Given the description of an element on the screen output the (x, y) to click on. 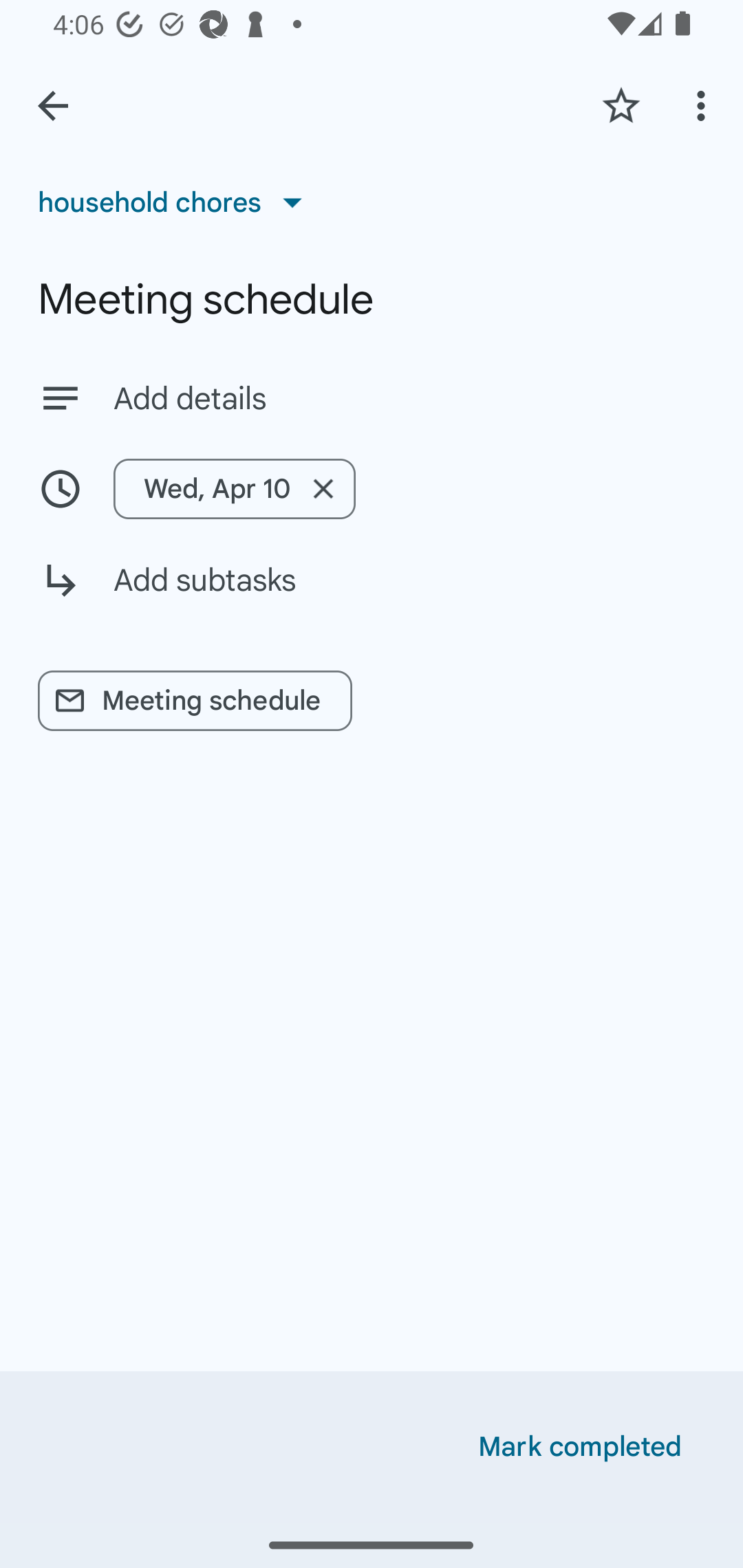
Back (53, 105)
Add star (620, 105)
More options (704, 105)
Meeting schedule (371, 299)
Add details (371, 397)
Add details (409, 397)
Wed, Apr 10 Remove date/time (371, 488)
Wed, Apr 10 Remove date/time (234, 488)
Add subtasks (371, 594)
Meeting schedule Related link (194, 700)
Mark completed (580, 1446)
